Given the description of an element on the screen output the (x, y) to click on. 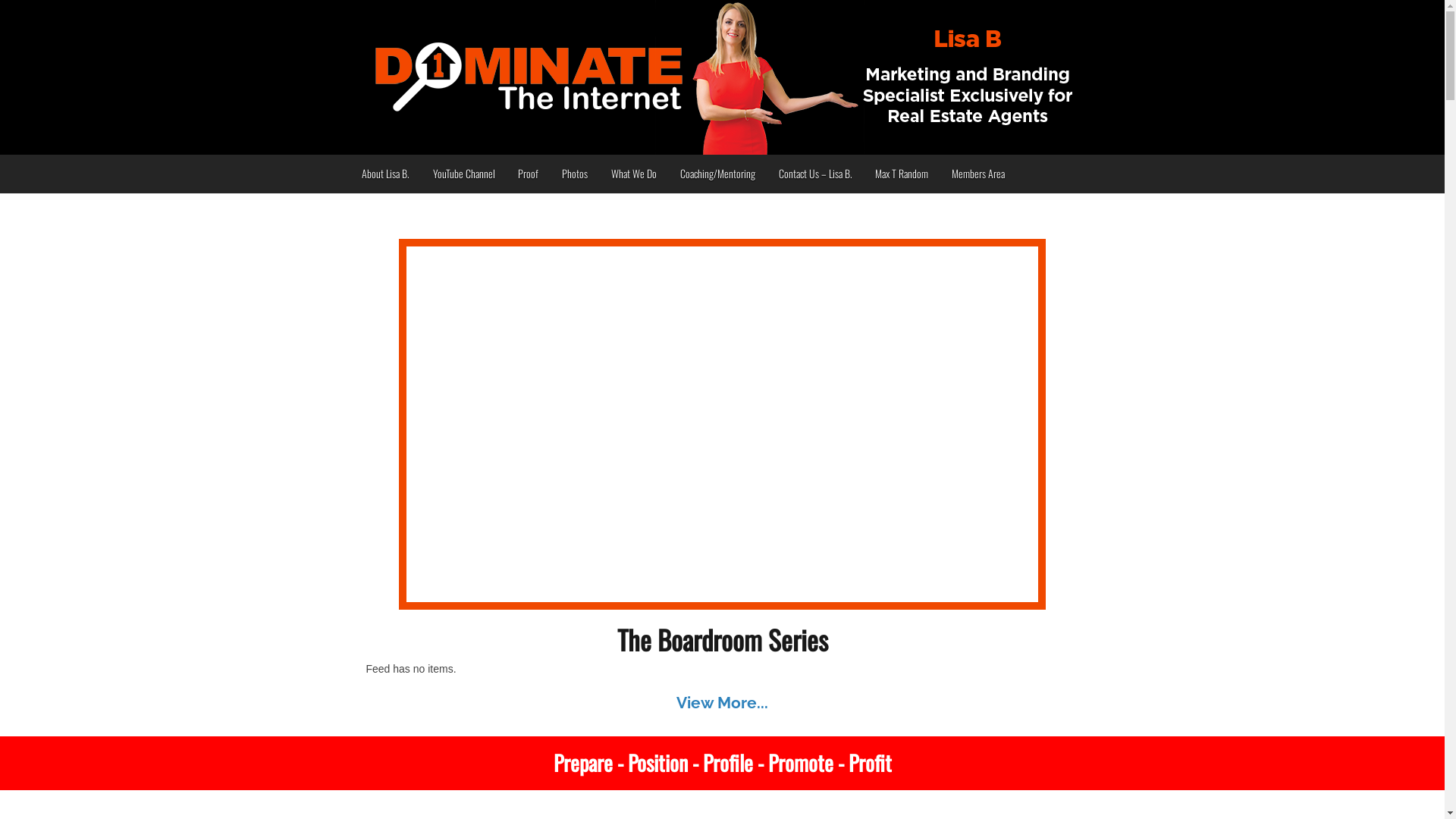
Coaching/Mentoring Element type: text (717, 173)
Members Area Element type: text (978, 173)
Max T Random Element type: text (901, 173)
Photos Element type: text (574, 173)
YouTube Channel Element type: text (463, 173)
About Lisa B. Element type: text (385, 173)
Proof Element type: text (528, 173)
What We Do Element type: text (633, 173)
View More... Element type: text (722, 702)
